Given the description of an element on the screen output the (x, y) to click on. 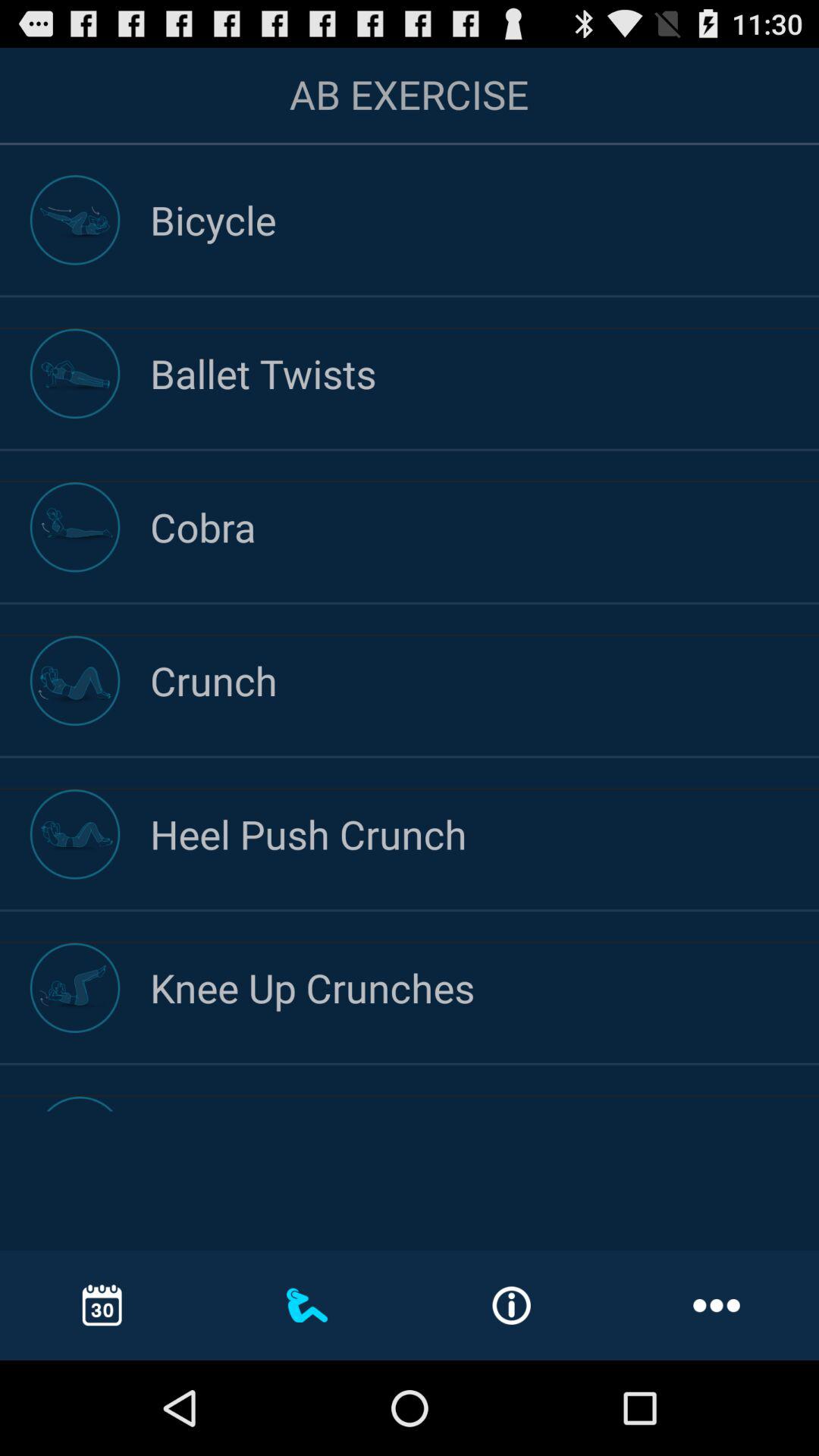
flip until the cobra app (484, 526)
